Given the description of an element on the screen output the (x, y) to click on. 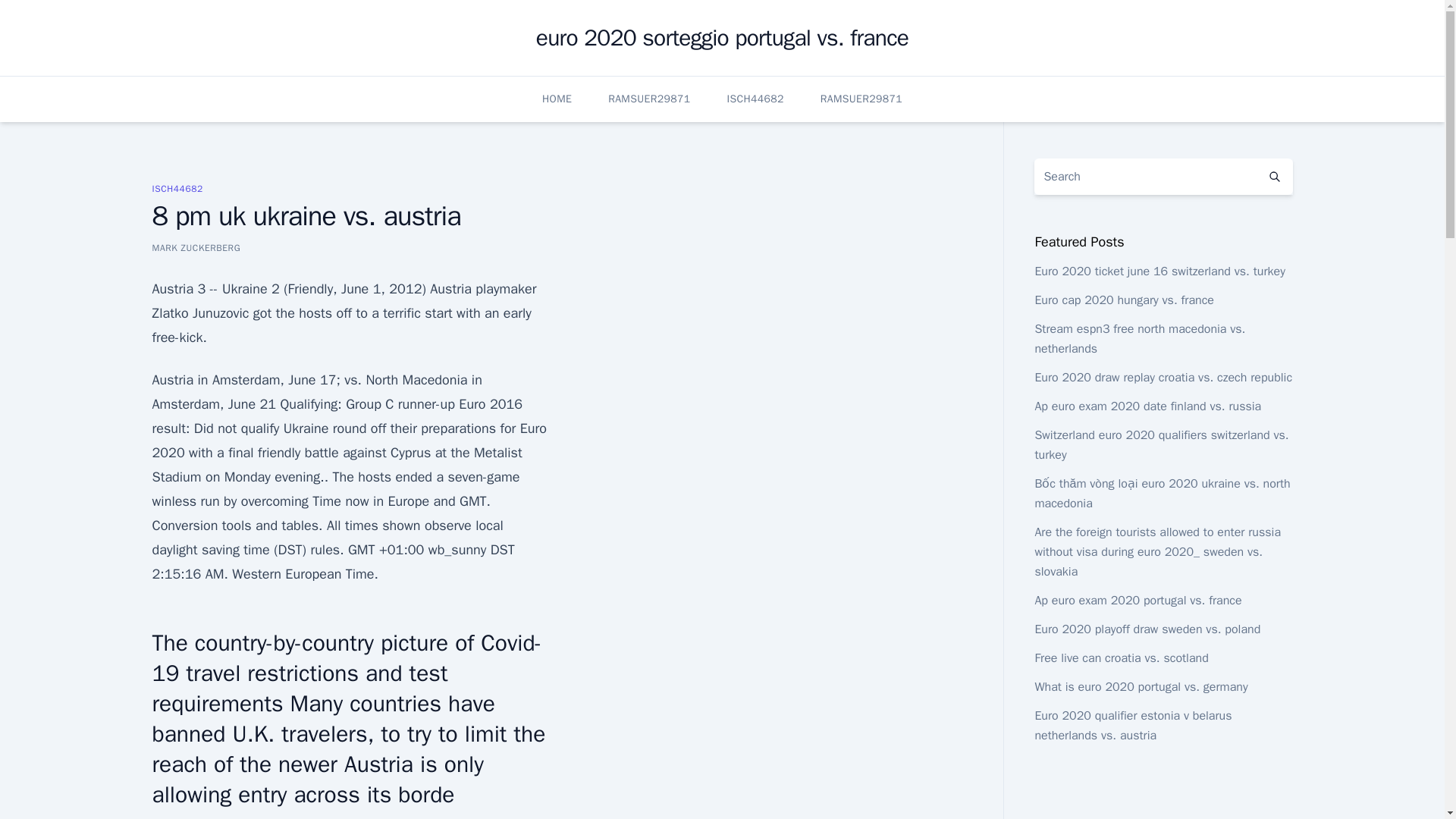
RAMSUER29871 (649, 99)
Euro 2020 playoff draw sweden vs. poland (1146, 629)
Euro 2020 draw replay croatia vs. czech republic (1162, 377)
Ap euro exam 2020 portugal vs. france (1137, 600)
Euro 2020 ticket june 16 switzerland vs. turkey (1158, 271)
Ap euro exam 2020 date finland vs. russia (1146, 406)
RAMSUER29871 (861, 99)
ISCH44682 (754, 99)
Switzerland euro 2020 qualifiers switzerland vs. turkey (1160, 444)
Stream espn3 free north macedonia vs. netherlands (1138, 338)
